Given the description of an element on the screen output the (x, y) to click on. 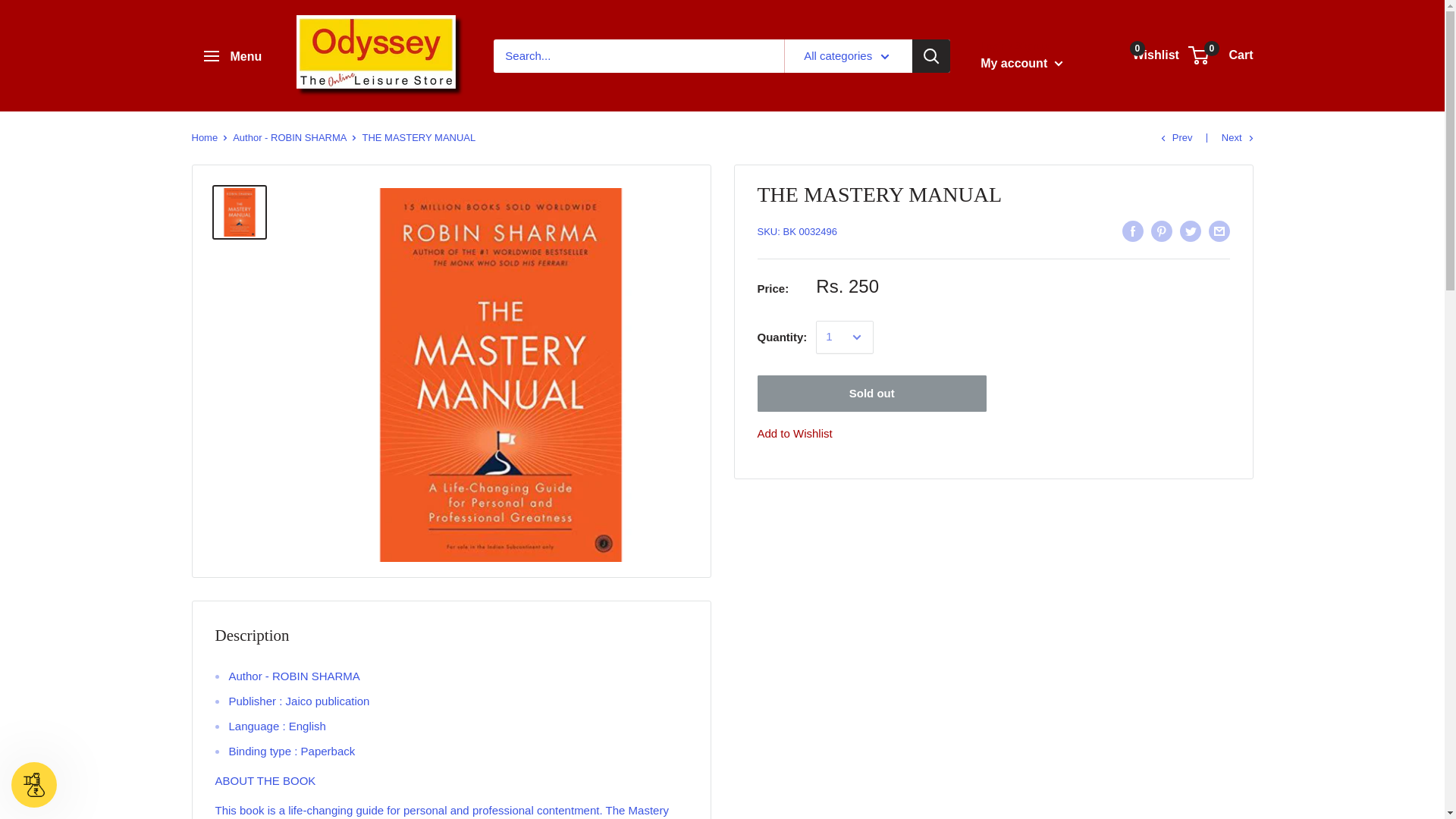
Next (1237, 137)
Home (1147, 55)
Menu (203, 137)
Author - ROBIN SHARMA (231, 55)
My account (1220, 55)
Prev (289, 137)
